Given the description of an element on the screen output the (x, y) to click on. 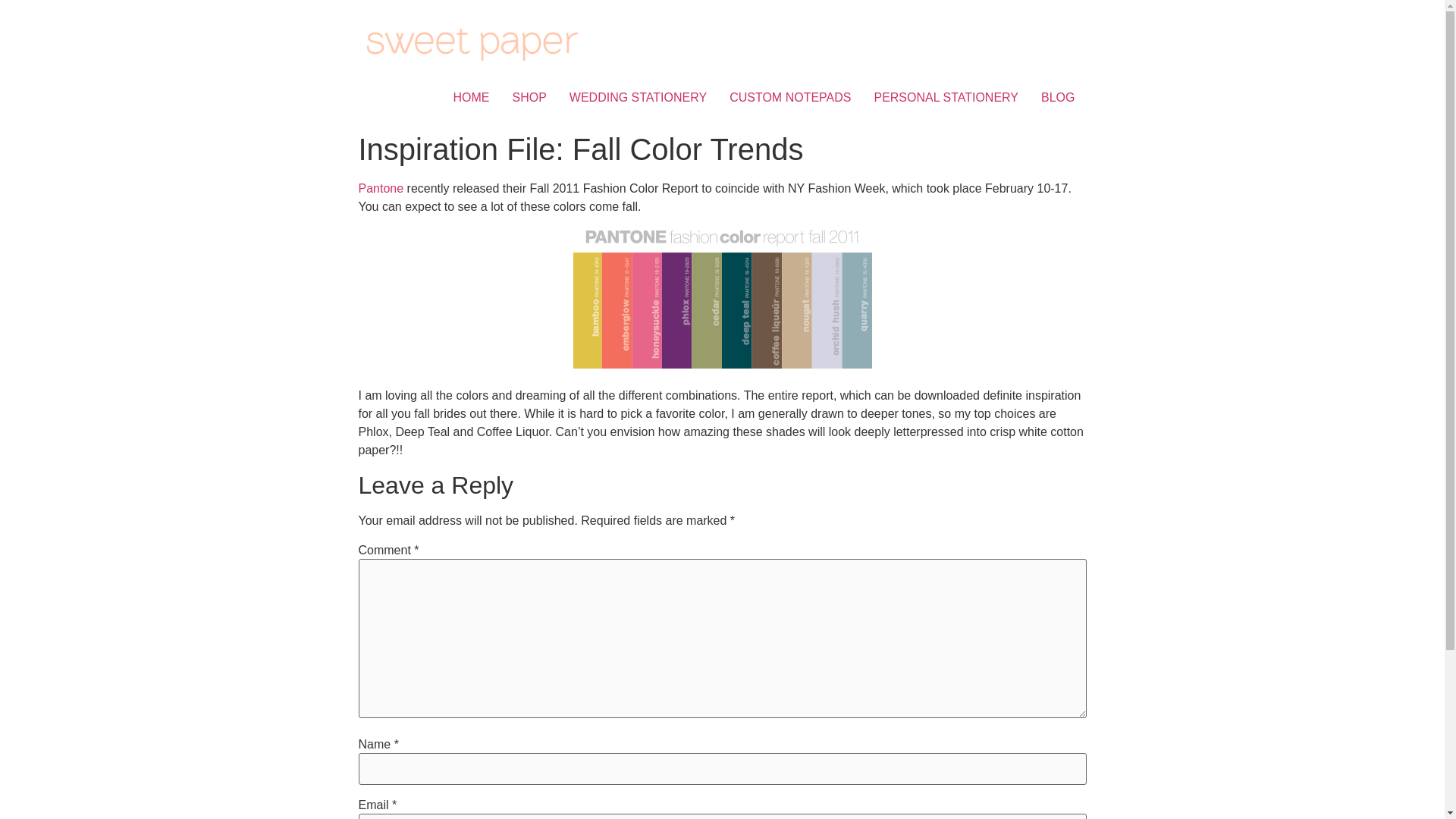
CUSTOM NOTEPADS (789, 97)
HOME (470, 97)
SHOP (528, 97)
PERSONAL STATIONERY (945, 97)
WEDDING STATIONERY (637, 97)
Pantone (380, 187)
Screen shot 2011-02-21 at 10.17.09 AM (722, 297)
BLOG (1057, 97)
